Given the description of an element on the screen output the (x, y) to click on. 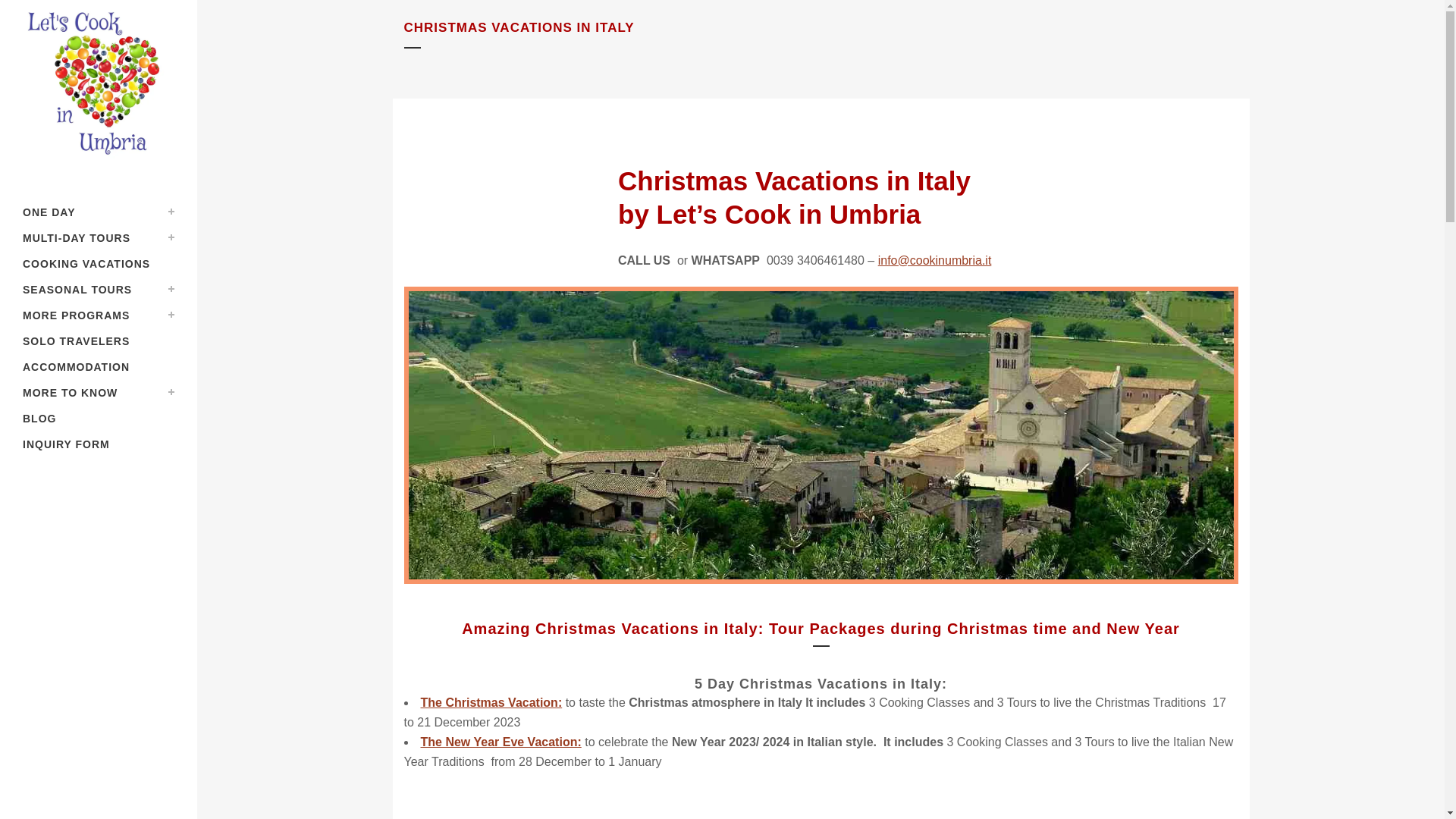
Daily Cooking Class (98, 212)
MULTI-DAY TOURS (98, 237)
COOKING VACATIONS (98, 263)
SEASONAL TOURS (98, 289)
Italy Food Tours  (98, 237)
ONE DAY (98, 212)
